Given the description of an element on the screen output the (x, y) to click on. 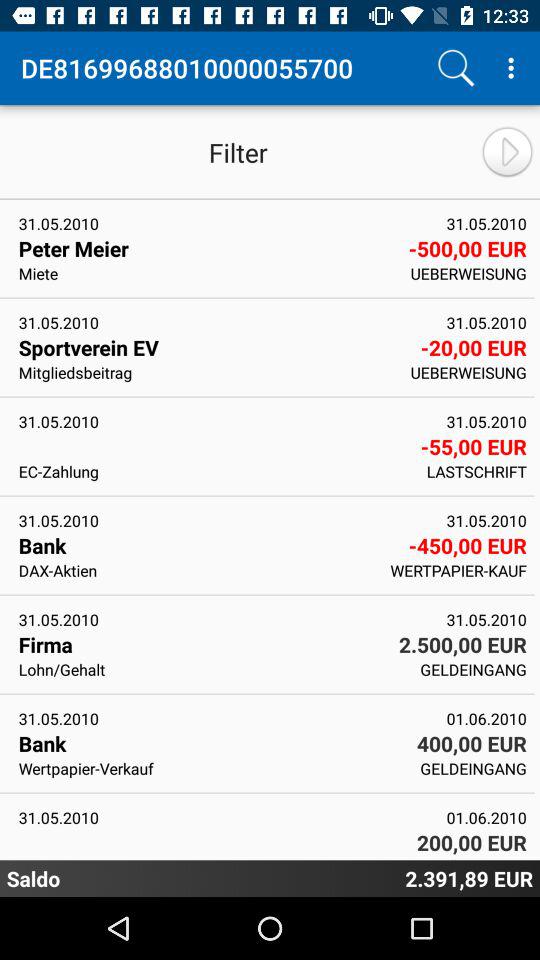
choose the app to the left of geldeingang (212, 669)
